Given the description of an element on the screen output the (x, y) to click on. 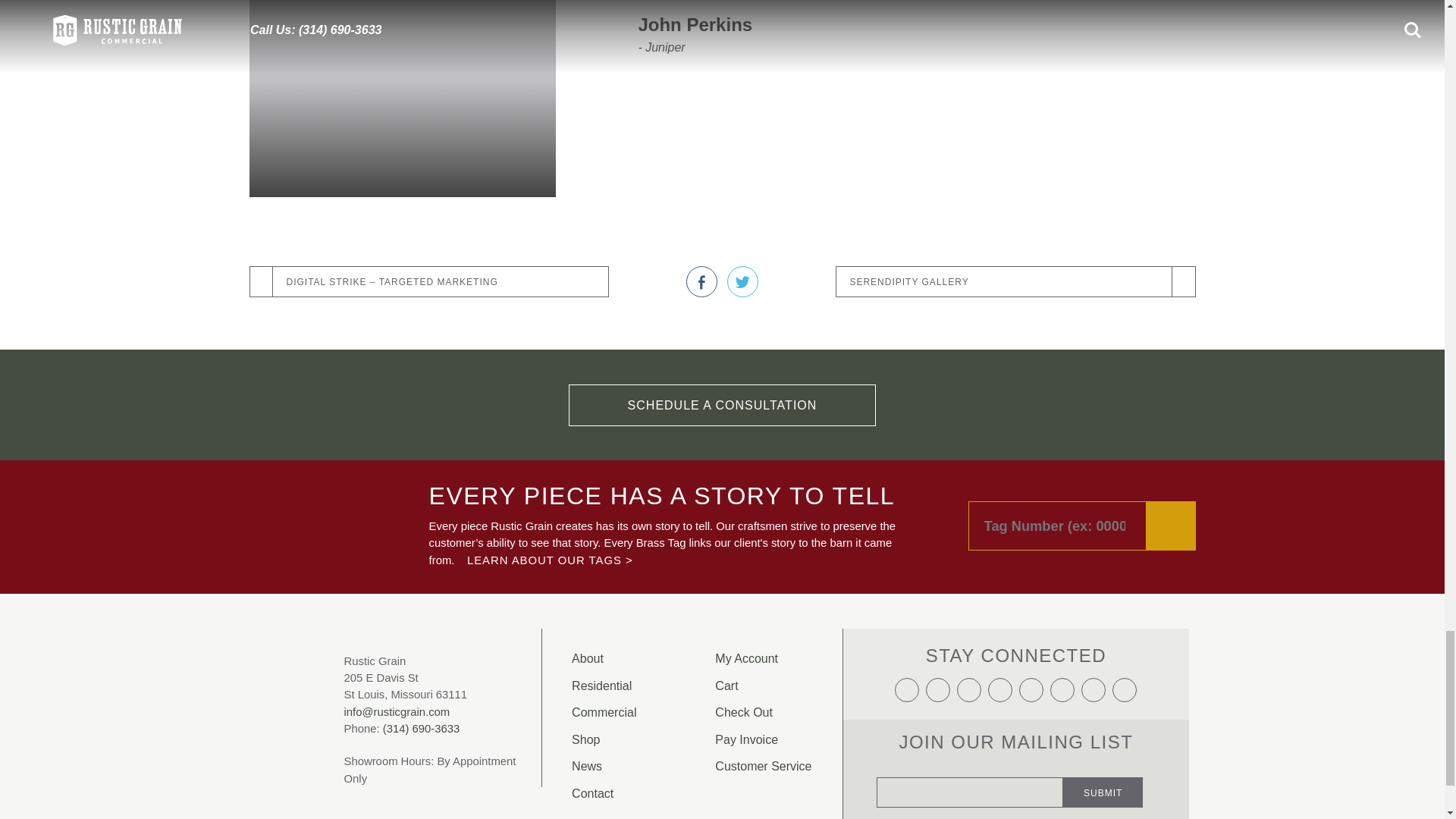
Tag Search (1081, 525)
SERENDIPITY GALLERY (1014, 282)
Submit (1102, 792)
Search (1170, 525)
Search (1170, 525)
